Given the description of an element on the screen output the (x, y) to click on. 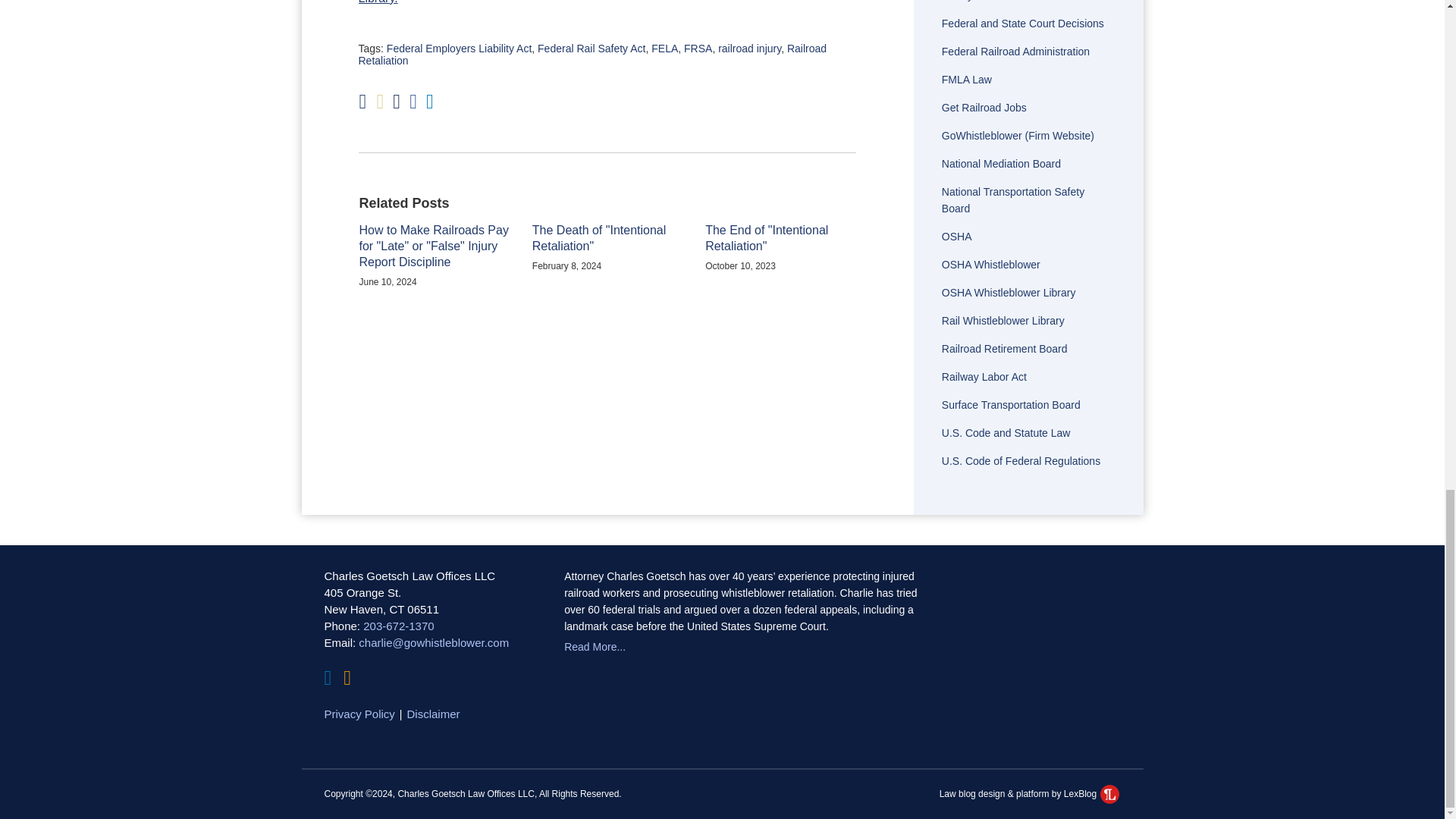
Federal Employers Liability Act (459, 48)
Tweet this post (396, 101)
FRSA (697, 48)
Like this post (412, 101)
Federal and State Court Decisions (1022, 23)
The Death of "Intentional Retaliation" (607, 238)
Print: (362, 101)
Share this post on LinkedIn (429, 101)
LexBlog Logo (1109, 793)
Railroad Retaliation (592, 54)
Federal Rail Safety Act (591, 48)
railroad injury (748, 48)
FELA (664, 48)
